Given the description of an element on the screen output the (x, y) to click on. 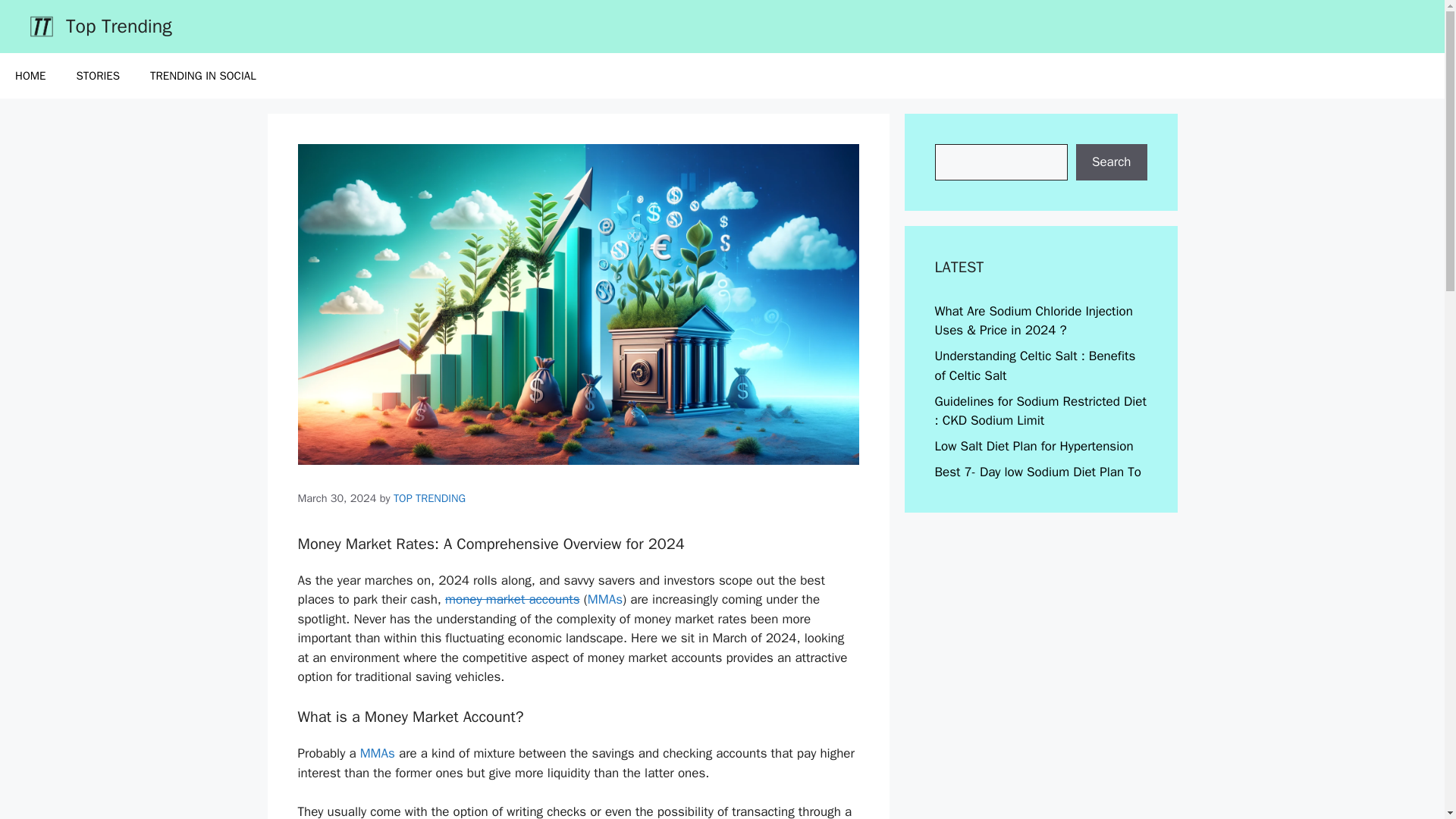
Search (1111, 162)
Guidelines for Sodium Restricted Diet : CKD Sodium Limit (1039, 410)
View all posts by TOP TRENDING (429, 498)
Top Trending (118, 25)
MMAs (376, 753)
TOP TRENDING (429, 498)
MMAs (605, 599)
Low Salt Diet Plan for Hypertension (1033, 446)
money market accounts (512, 599)
